Given the description of an element on the screen output the (x, y) to click on. 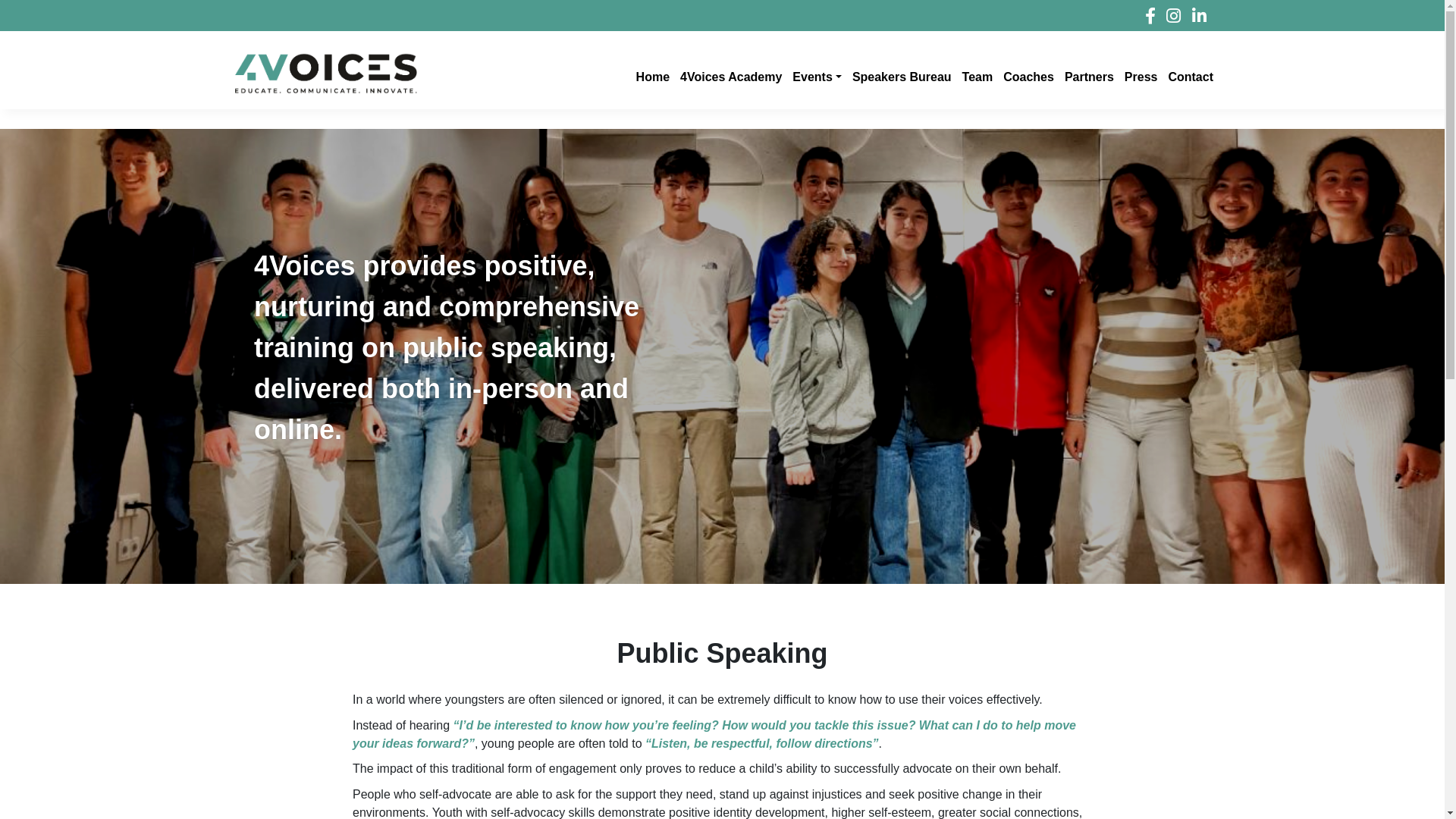
Speakers Bureau Element type: text (900, 73)
Events Element type: text (815, 73)
4Voices Academy Element type: text (729, 73)
Press Element type: text (1139, 73)
Partners Element type: text (1087, 73)
Home Element type: text (651, 73)
Coaches Element type: text (1026, 73)
Contact Element type: text (1189, 73)
Team Element type: text (976, 73)
